Given the description of an element on the screen output the (x, y) to click on. 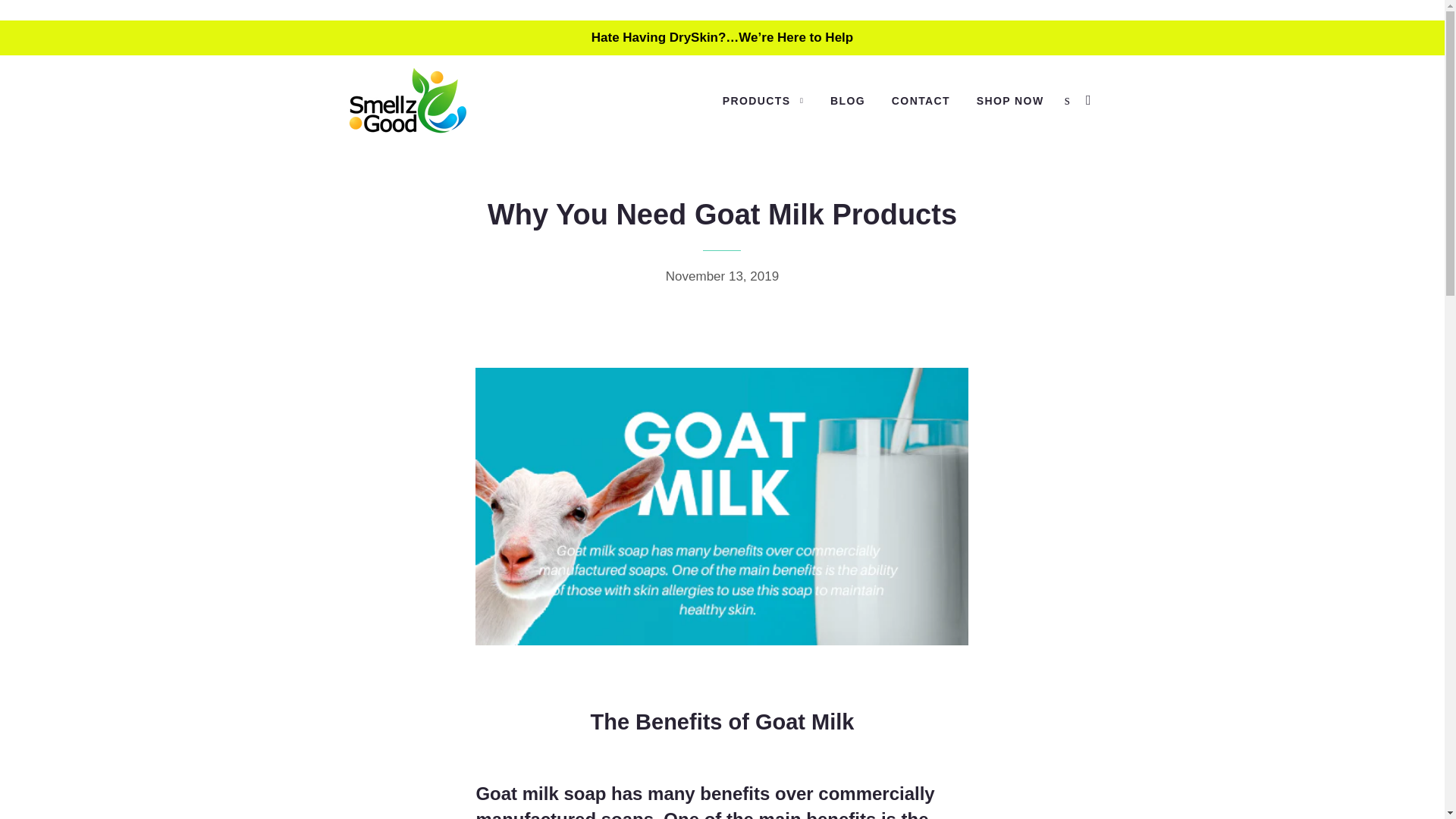
PRODUCTS (763, 101)
BLOG (847, 101)
SHOP NOW (1010, 101)
CONTACT (920, 101)
